Given the description of an element on the screen output the (x, y) to click on. 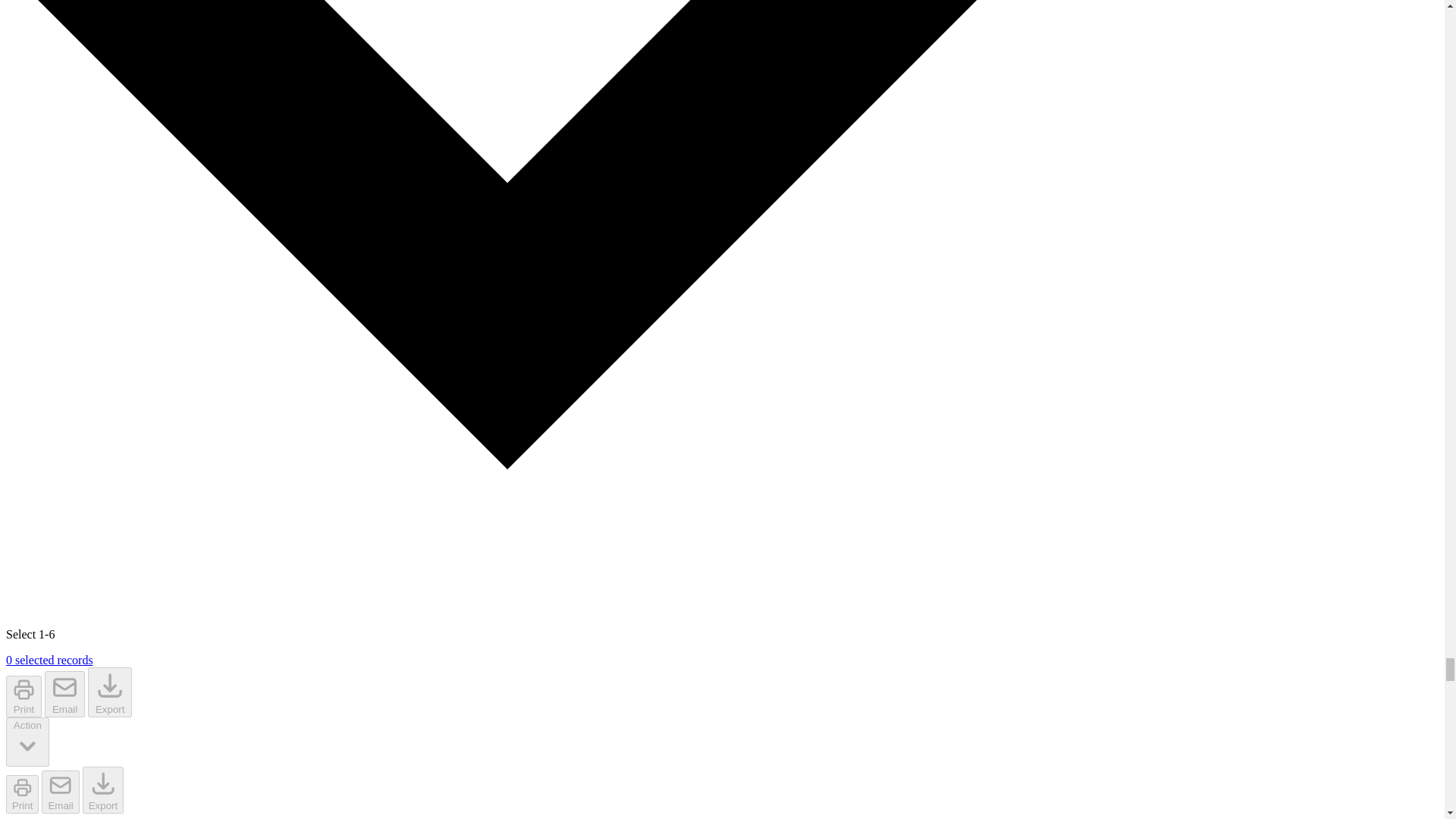
Print (22, 794)
Print (23, 696)
0 selected records (49, 659)
Export (102, 790)
Export (109, 692)
Email (64, 693)
Action (27, 741)
Email (60, 792)
